Given the description of an element on the screen output the (x, y) to click on. 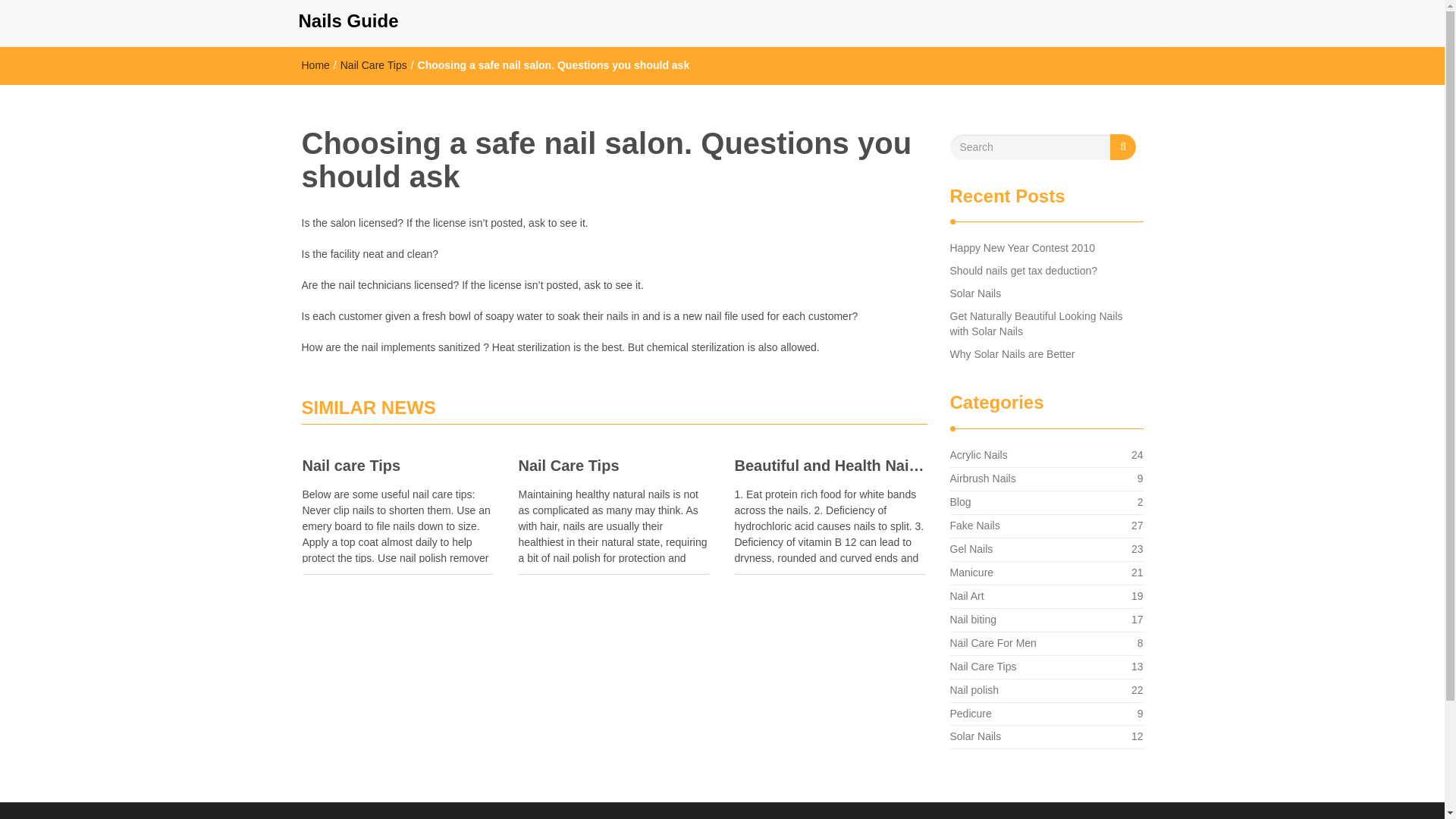
Choosing a safe nail salon. Questions you should ask (981, 478)
Home (978, 454)
Solar Nails (972, 619)
